Given the description of an element on the screen output the (x, y) to click on. 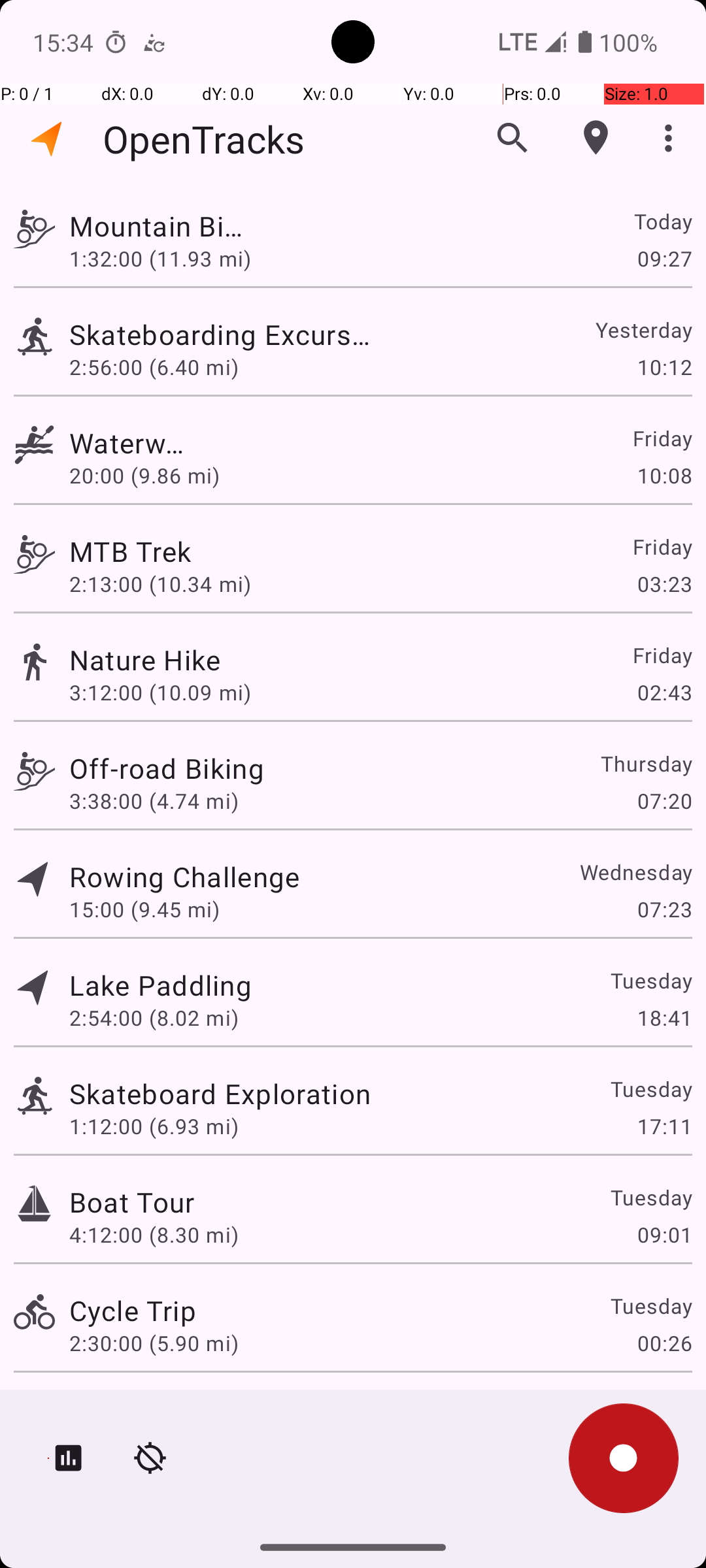
Mountain Biking Excursion Element type: android.widget.TextView (160, 225)
1:32:00 (11.93 mi) Element type: android.widget.TextView (159, 258)
09:27 Element type: android.widget.TextView (664, 258)
Skateboarding Excursion Element type: android.widget.TextView (219, 333)
2:56:00 (6.40 mi) Element type: android.widget.TextView (153, 366)
10:12 Element type: android.widget.TextView (664, 366)
Waterway Paddle Element type: android.widget.TextView (131, 442)
20:00 (9.86 mi) Element type: android.widget.TextView (153, 475)
10:08 Element type: android.widget.TextView (664, 475)
MTB Trek Element type: android.widget.TextView (132, 550)
2:13:00 (10.34 mi) Element type: android.widget.TextView (159, 583)
03:23 Element type: android.widget.TextView (664, 583)
Nature Hike Element type: android.widget.TextView (173, 659)
3:12:00 (10.09 mi) Element type: android.widget.TextView (159, 692)
02:43 Element type: android.widget.TextView (664, 692)
Off-road Biking Element type: android.widget.TextView (166, 767)
3:38:00 (4.74 mi) Element type: android.widget.TextView (153, 800)
07:20 Element type: android.widget.TextView (664, 800)
Rowing Challenge Element type: android.widget.TextView (184, 876)
15:00 (9.45 mi) Element type: android.widget.TextView (144, 909)
07:23 Element type: android.widget.TextView (664, 909)
Lake Paddling Element type: android.widget.TextView (160, 984)
2:54:00 (8.02 mi) Element type: android.widget.TextView (153, 1017)
18:41 Element type: android.widget.TextView (664, 1017)
Skateboard Exploration Element type: android.widget.TextView (219, 1092)
1:12:00 (6.93 mi) Element type: android.widget.TextView (153, 1125)
17:11 Element type: android.widget.TextView (664, 1125)
Boat Tour Element type: android.widget.TextView (131, 1201)
4:12:00 (8.30 mi) Element type: android.widget.TextView (153, 1234)
09:01 Element type: android.widget.TextView (664, 1234)
Cycle Trip Element type: android.widget.TextView (132, 1309)
2:30:00 (5.90 mi) Element type: android.widget.TextView (153, 1342)
00:26 Element type: android.widget.TextView (664, 1342)
Off-road Cycling Element type: android.widget.TextView (173, 1408)
